Given the description of an element on the screen output the (x, y) to click on. 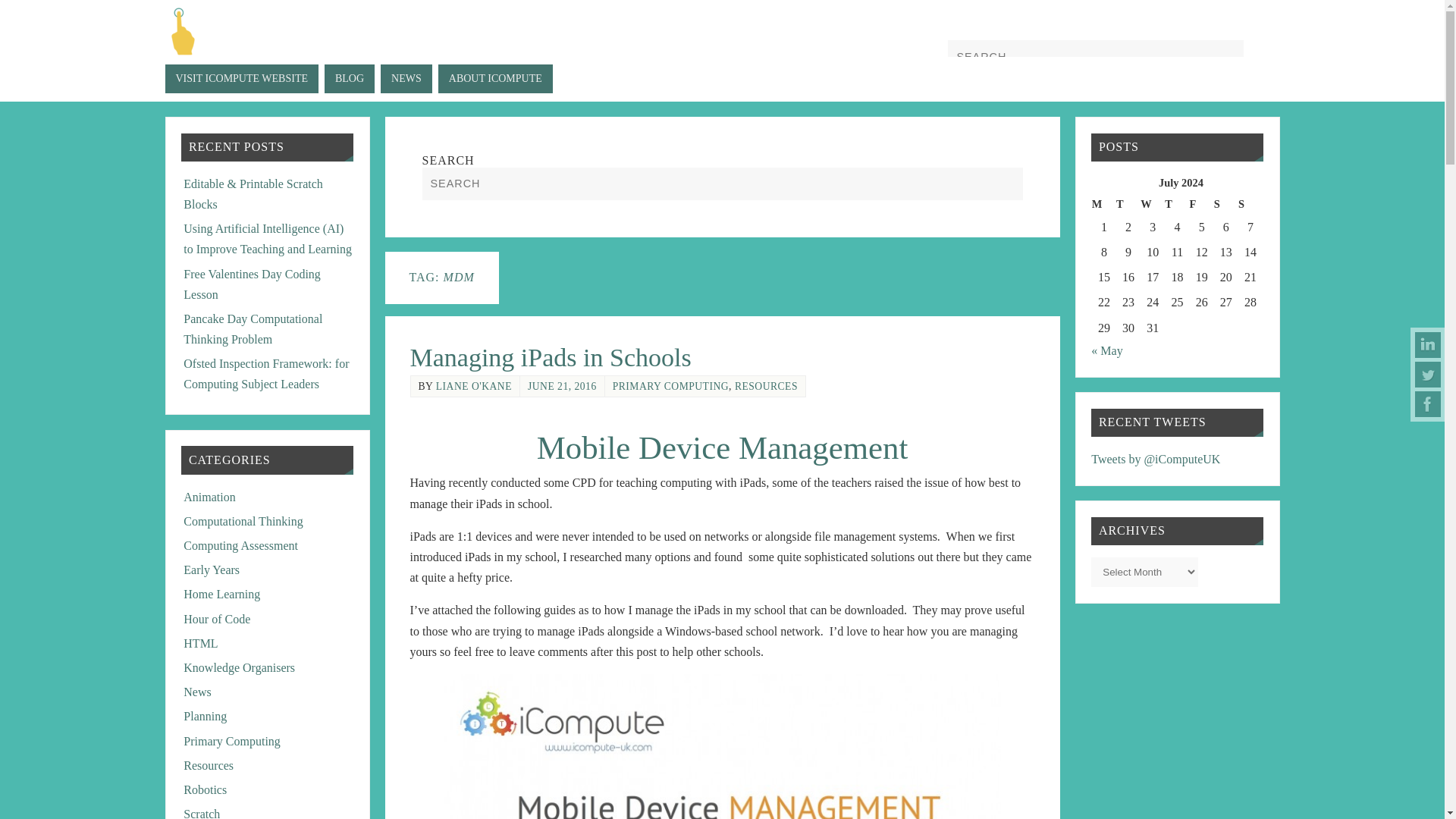
Saturday (1226, 203)
Ofsted Inspection Framework: for Computing Subject Leaders (266, 373)
Computational Thinking (242, 521)
BLOG (349, 78)
Sunday (1250, 203)
LIANE O'KANE (473, 386)
Wednesday (1152, 203)
Tuesday (1128, 203)
Free Valentines Day Coding Lesson (251, 284)
Permalink to Managing iPads in Schools (549, 357)
RESOURCES (766, 386)
Pancake Day Computational Thinking Problem (252, 328)
PRIMARY COMPUTING (670, 386)
Home Learning (221, 594)
Early Years (211, 569)
